Given the description of an element on the screen output the (x, y) to click on. 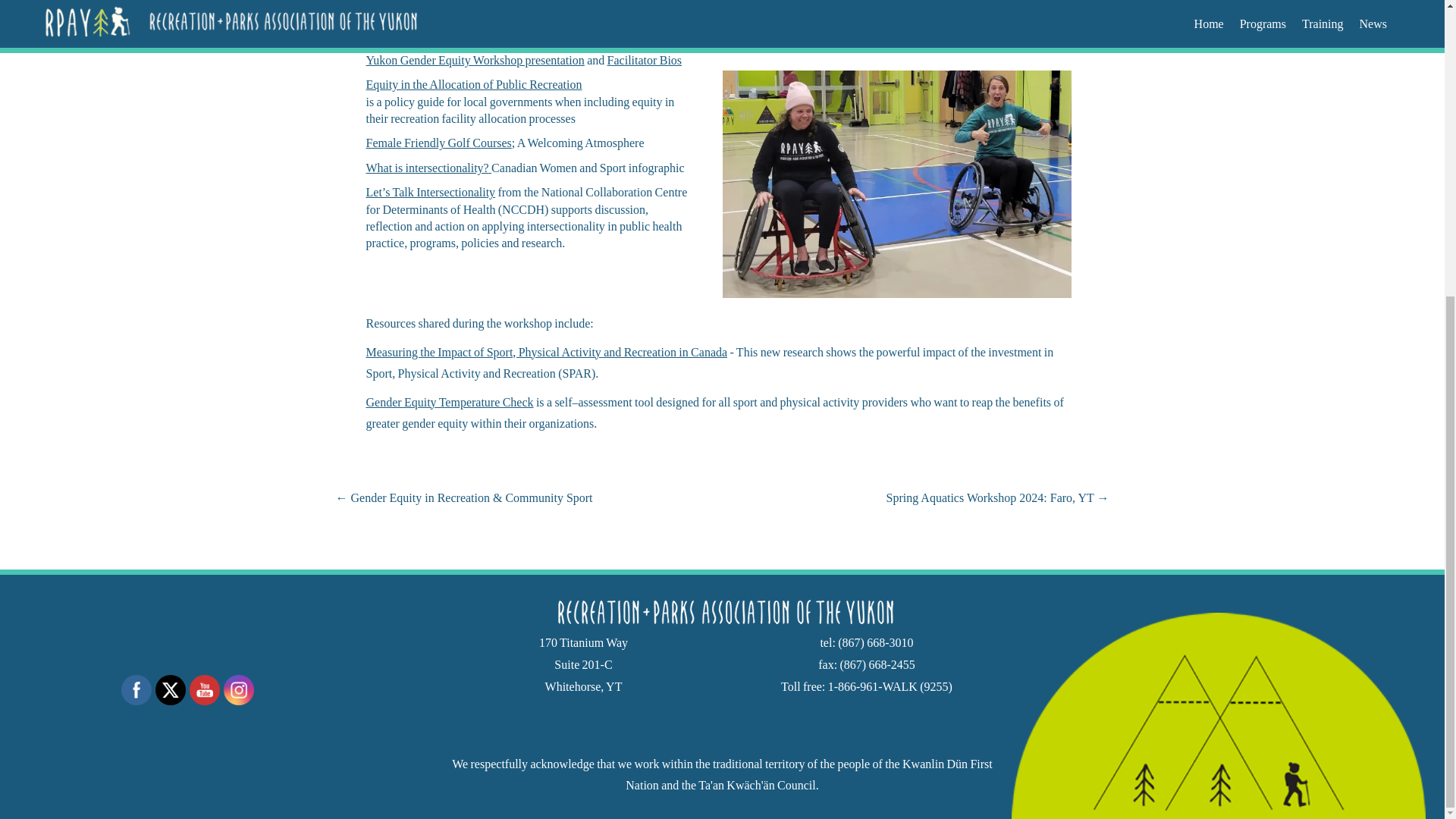
Yukon Gender Equity Workshop presentation (474, 60)
Facilitator Bios (644, 60)
What is intersectionality? (426, 167)
Facebook (136, 689)
woguy (721, 612)
Female Friendly Golf Courses (438, 142)
Gender Equity Temperature Check (448, 401)
AGENDA (390, 34)
Twitter (170, 689)
